Given the description of an element on the screen output the (x, y) to click on. 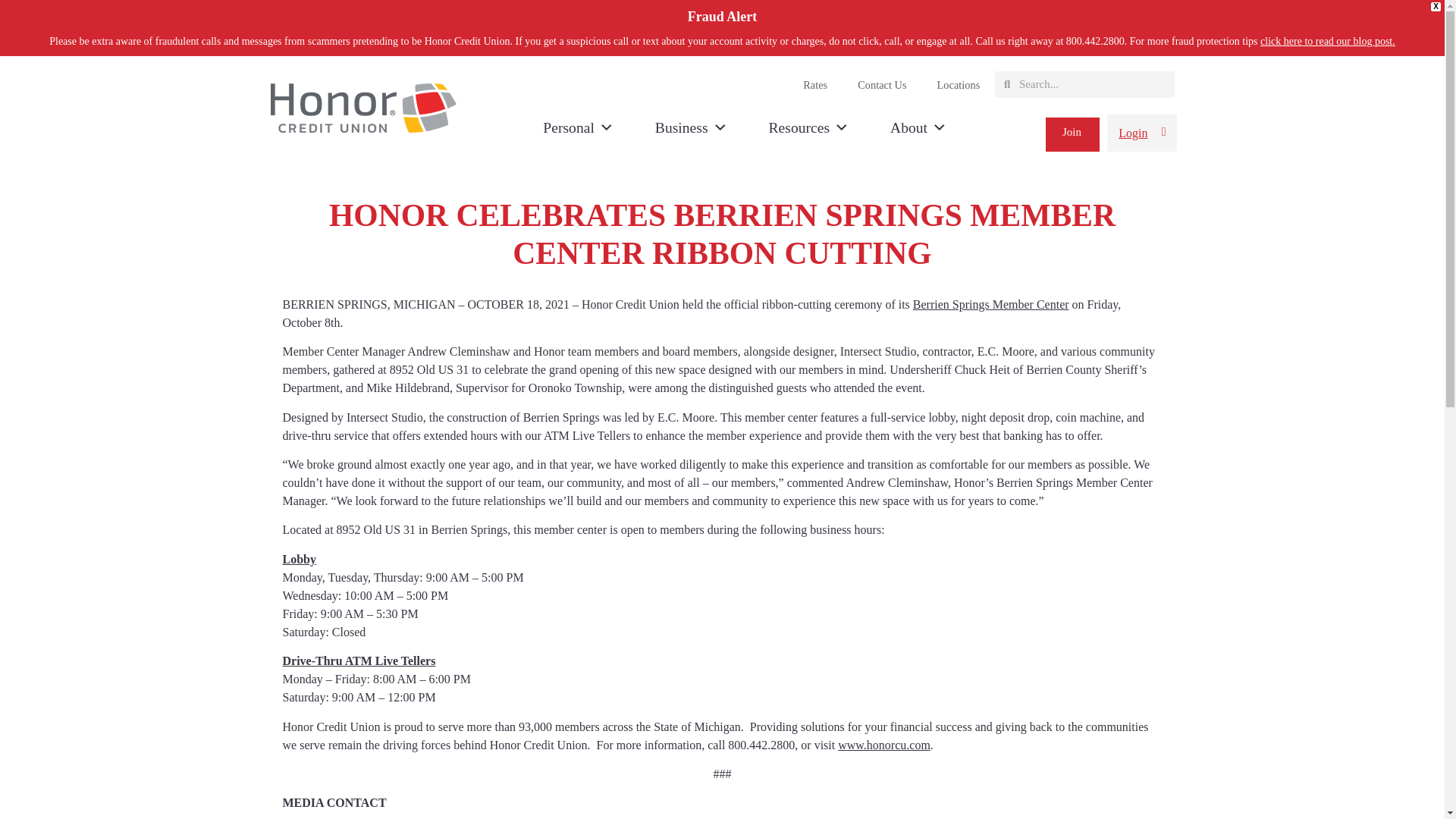
click here to read our blog post (1325, 41)
Rates (815, 84)
Personal (577, 126)
Contact Us (882, 84)
Locations (958, 84)
